Given the description of an element on the screen output the (x, y) to click on. 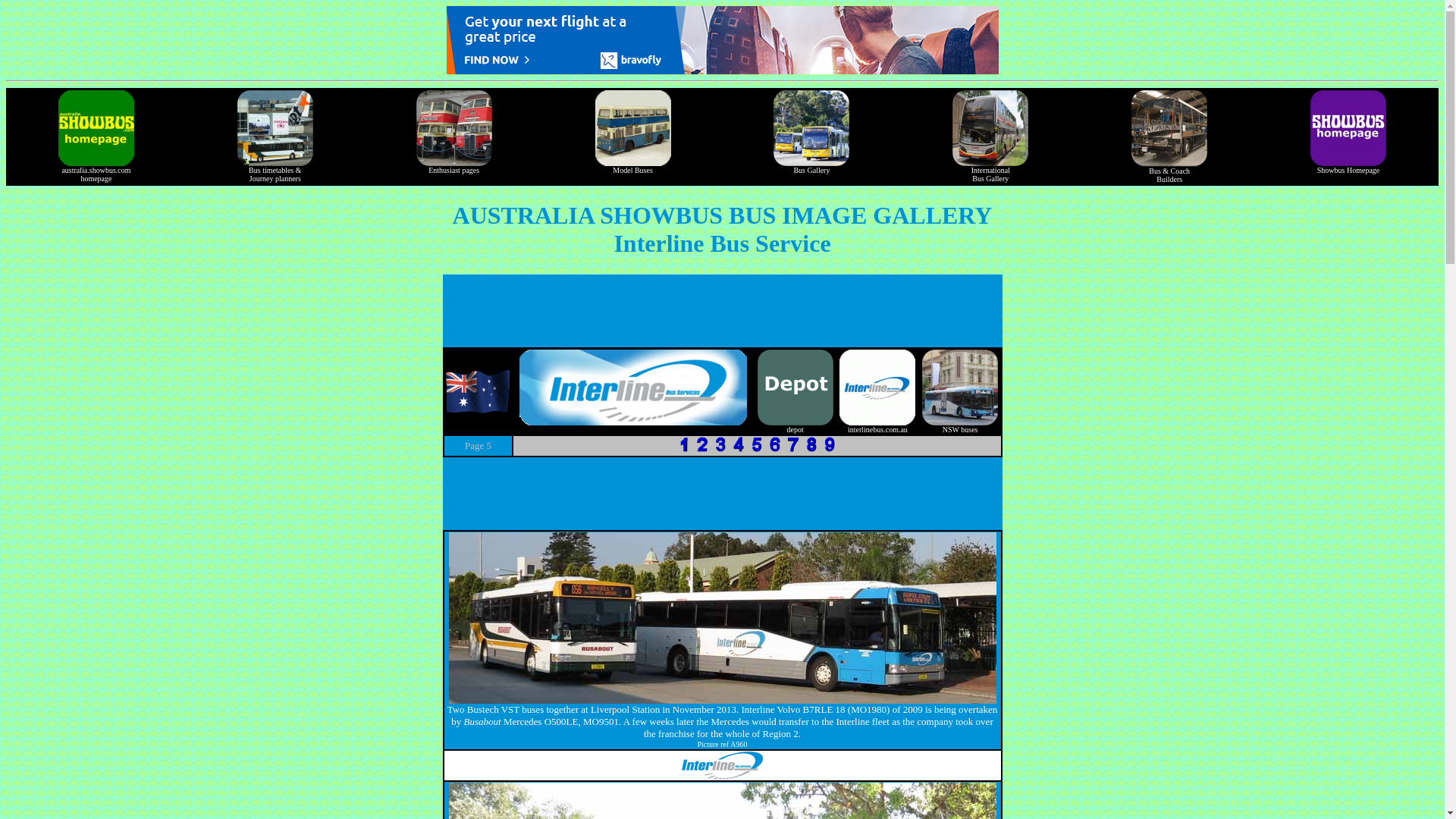
Model Buses (633, 165)
Advertisement (721, 310)
depot (794, 424)
Bus Gallery (810, 165)
NSW buses (989, 169)
Enthusiast pages (959, 424)
Showbus Homepage (454, 165)
Busabout (1348, 165)
Advertisement (482, 721)
interlinebus.com.au (721, 493)
